Given the description of an element on the screen output the (x, y) to click on. 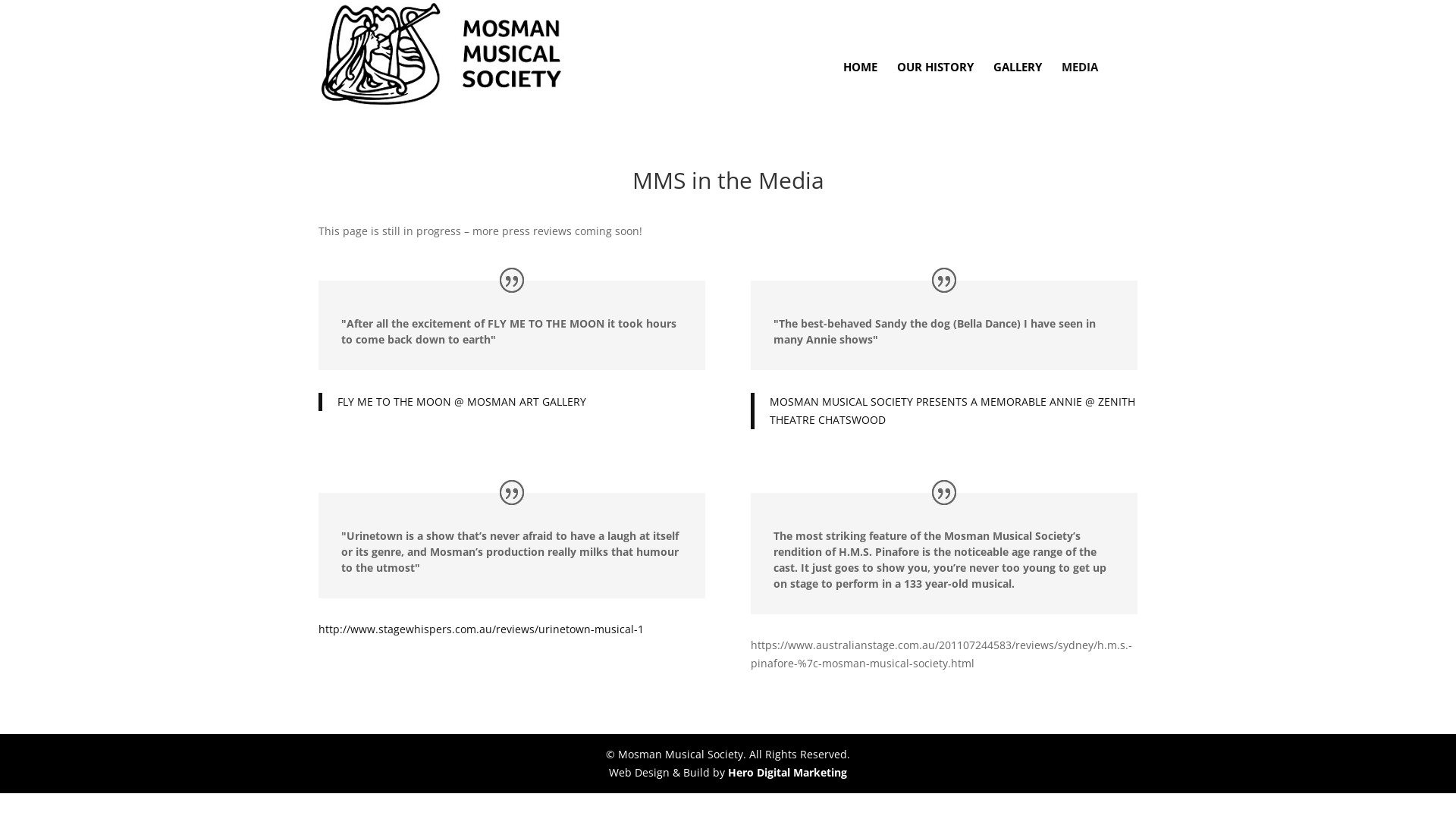
GALLERY Element type: text (1017, 84)
FLY ME TO THE MOON @ MOSMAN ART GALLERY Element type: text (461, 401)
HOME Element type: text (860, 84)
http://www.stagewhispers.com.au/reviews/urinetown-musical-1 Element type: text (480, 628)
OUR HISTORY Element type: text (935, 84)
MEDIA Element type: text (1079, 84)
Hero Digital Marketing Element type: text (787, 772)
